Given the description of an element on the screen output the (x, y) to click on. 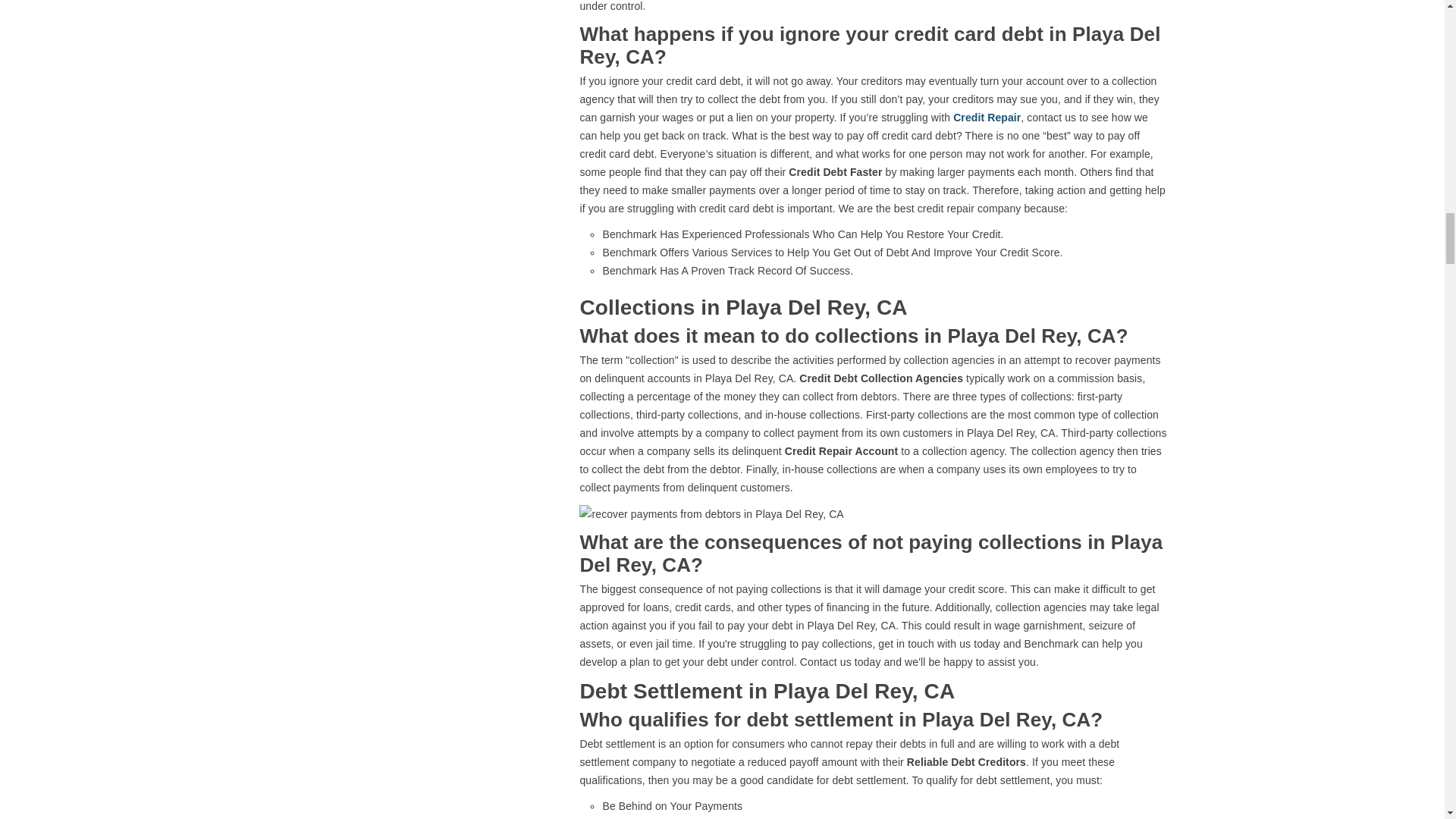
Credit Repair (986, 117)
